Given the description of an element on the screen output the (x, y) to click on. 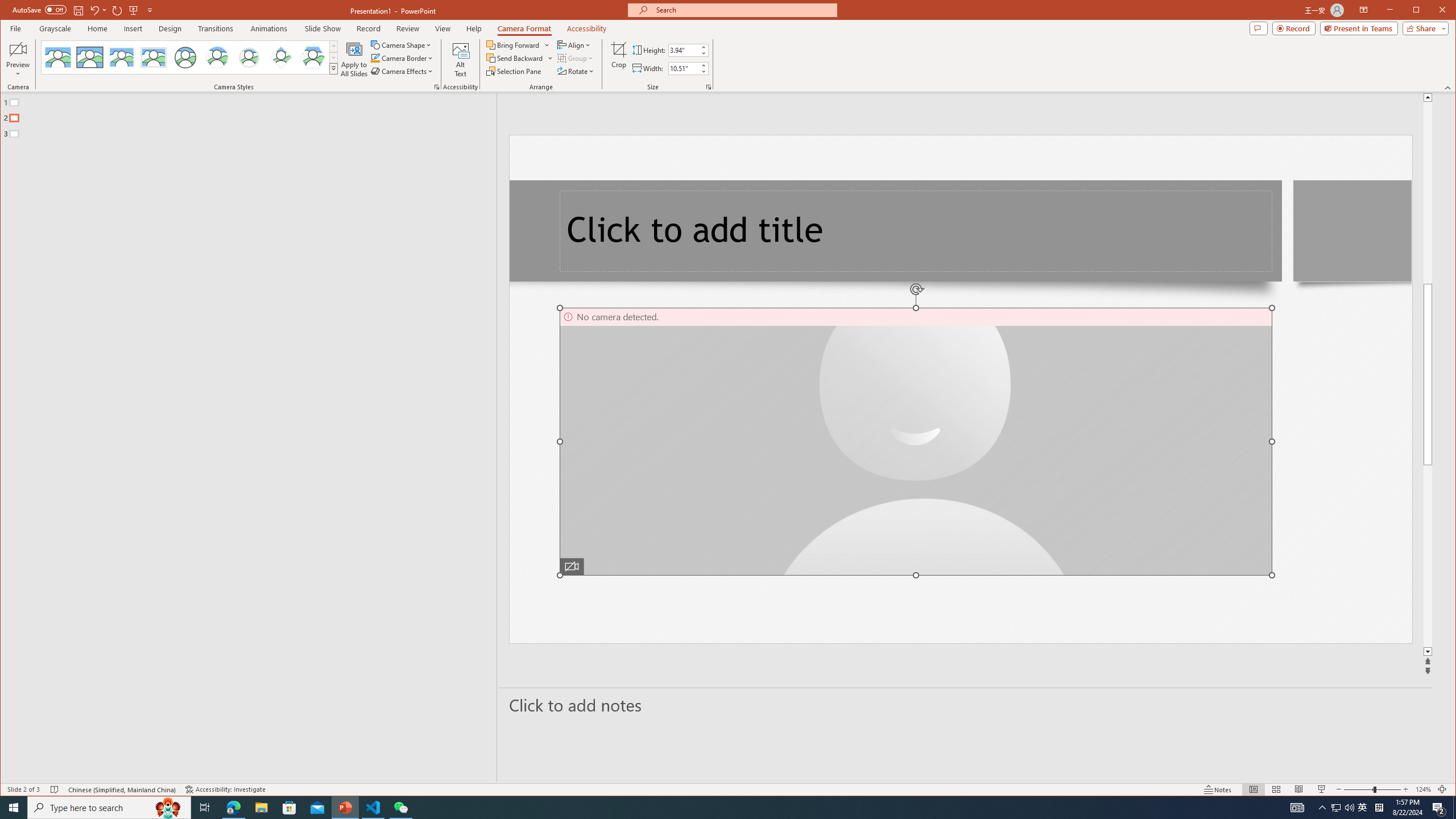
Camera Format (524, 28)
Camera Border (402, 57)
Rotate (577, 70)
Center Shadow Rectangle (122, 57)
Send Backward (520, 57)
Camera Shape (402, 44)
